Given the description of an element on the screen output the (x, y) to click on. 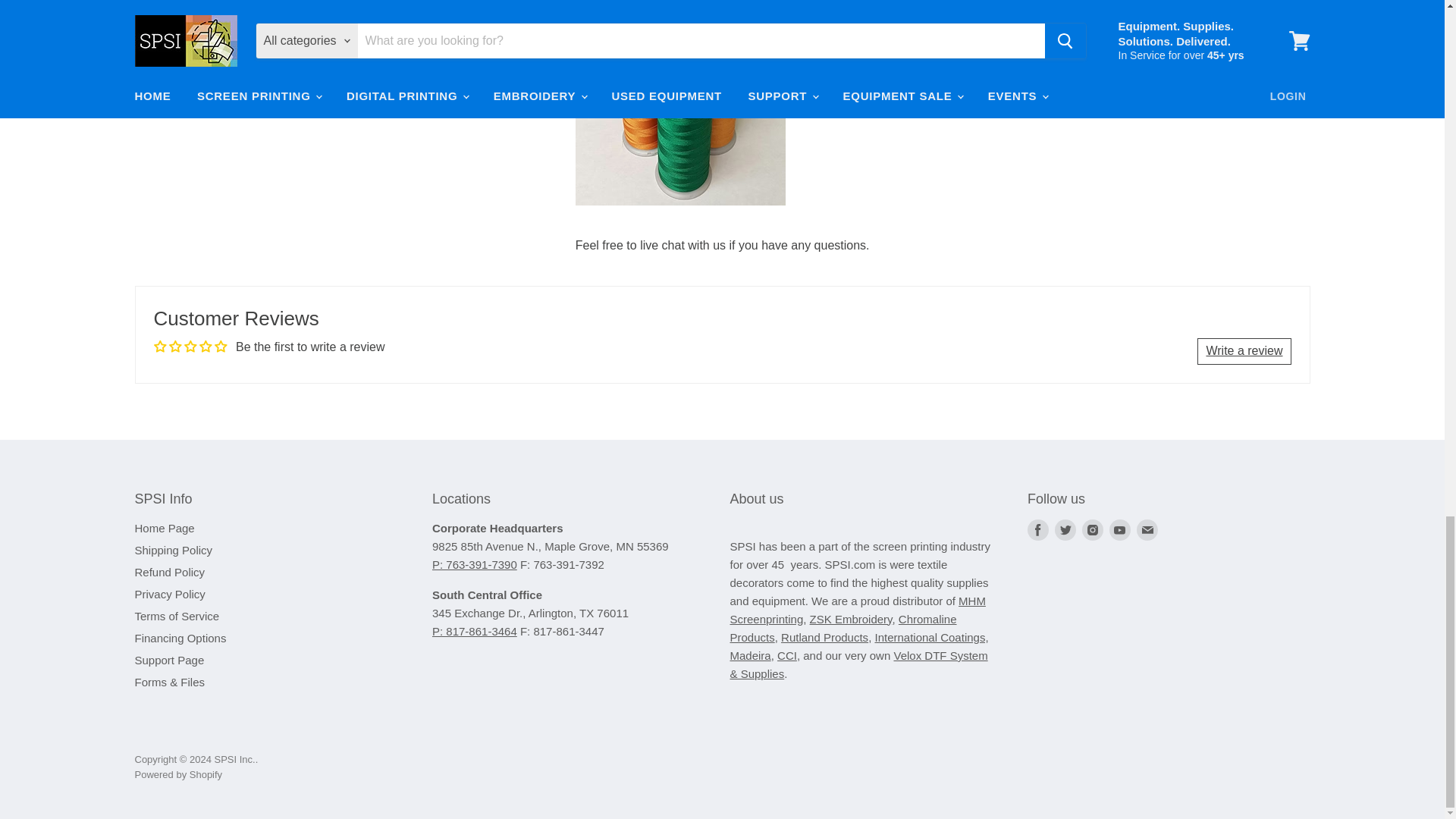
VELOX Direct-to-film (858, 664)
International Coatings (931, 636)
Madeira Polyneon Embroidery Thread (749, 655)
Email (1147, 529)
Youtube (1120, 529)
Chromaline Screen Printing Products (842, 627)
Embroidery Machines (850, 618)
Instagram (1092, 529)
Chemical Consultants (786, 655)
Twitter (1064, 529)
Facebook (1037, 529)
Rutland Screen Printing Inks (823, 636)
